Given the description of an element on the screen output the (x, y) to click on. 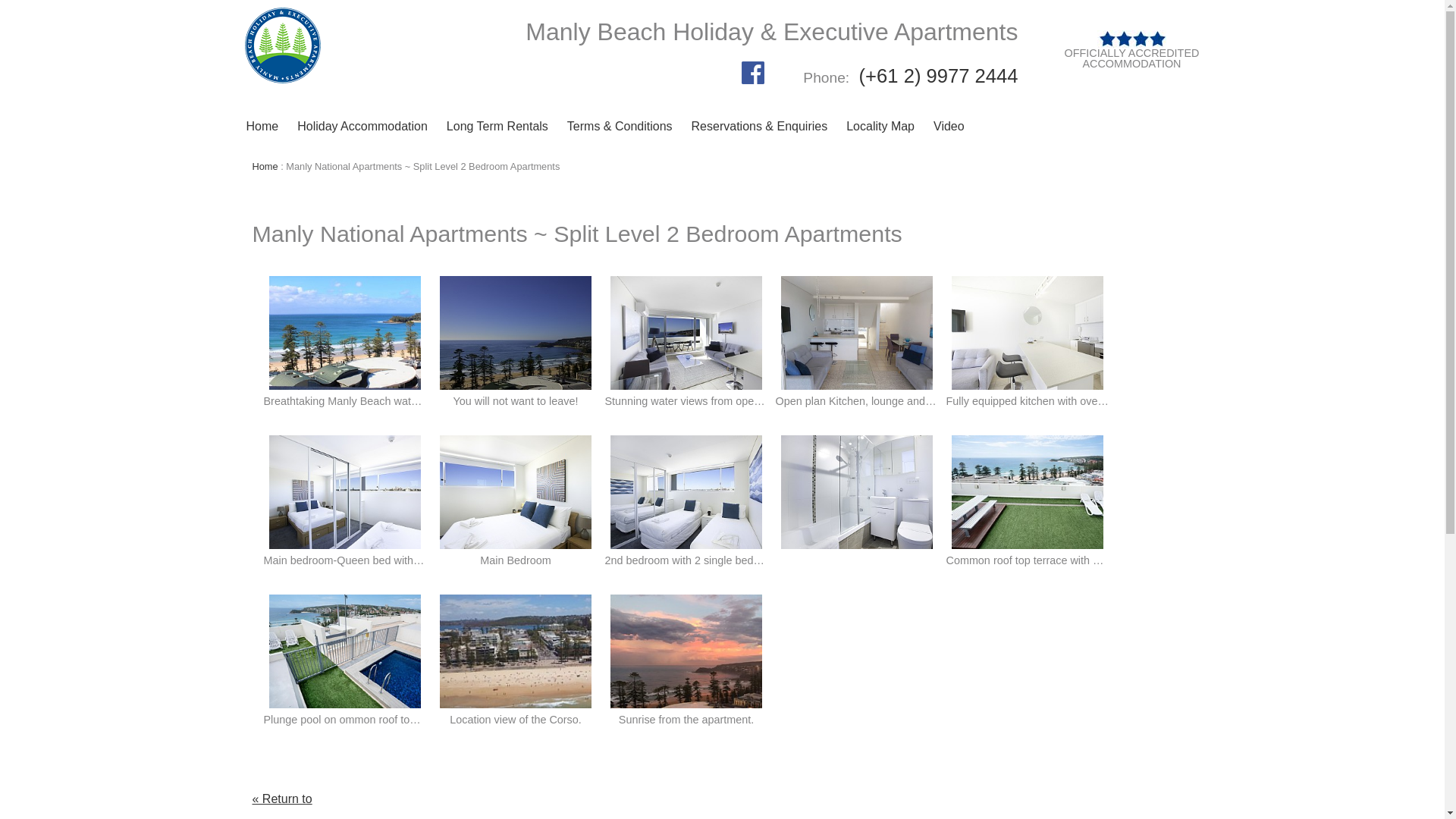
Home Element type: text (264, 166)
Breathtaking Manly Beach water views Element type: hover (344, 332)
Main Bedroom Element type: hover (515, 492)
Holiday Accommodation Element type: text (362, 126)
Video Element type: text (948, 126)
Long Term Rentals Element type: text (497, 126)
Location view of the Corso. Element type: hover (515, 651)
Main bedroom-Queen bed with under bed storage and wardrobe. Element type: hover (344, 492)
(+61 2) 9977 2444 Element type: text (935, 75)
Sunrise from the apartment. Element type: hover (686, 651)
Reservations & Enquiries Element type: text (759, 126)
You will not want to leave! Element type: hover (515, 332)
Terms & Conditions Element type: text (619, 126)
Locality Map Element type: text (880, 126)
Home Element type: text (261, 126)
Plunge pool on ommon roof top terrace Element type: hover (344, 651)
